Given the description of an element on the screen output the (x, y) to click on. 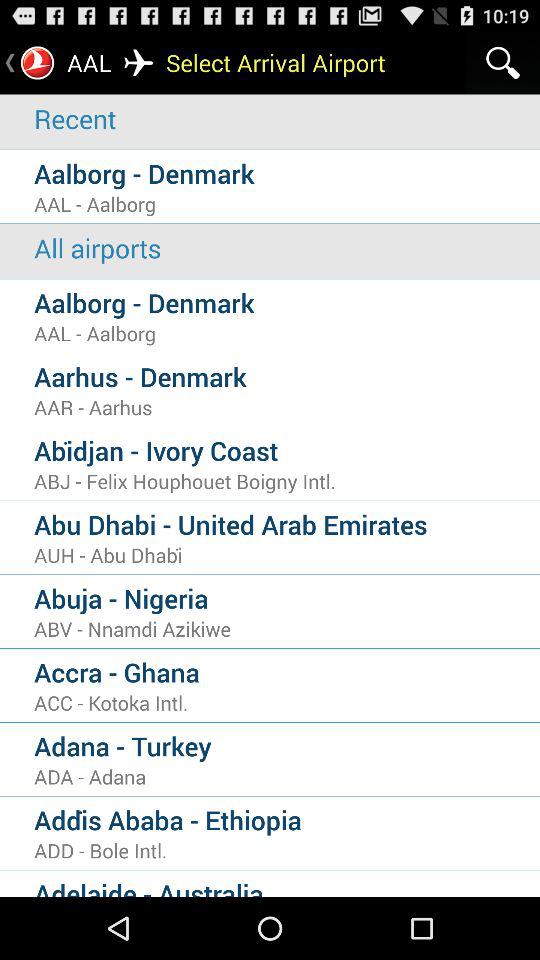
select the icon below addi s ababa icon (287, 850)
